Given the description of an element on the screen output the (x, y) to click on. 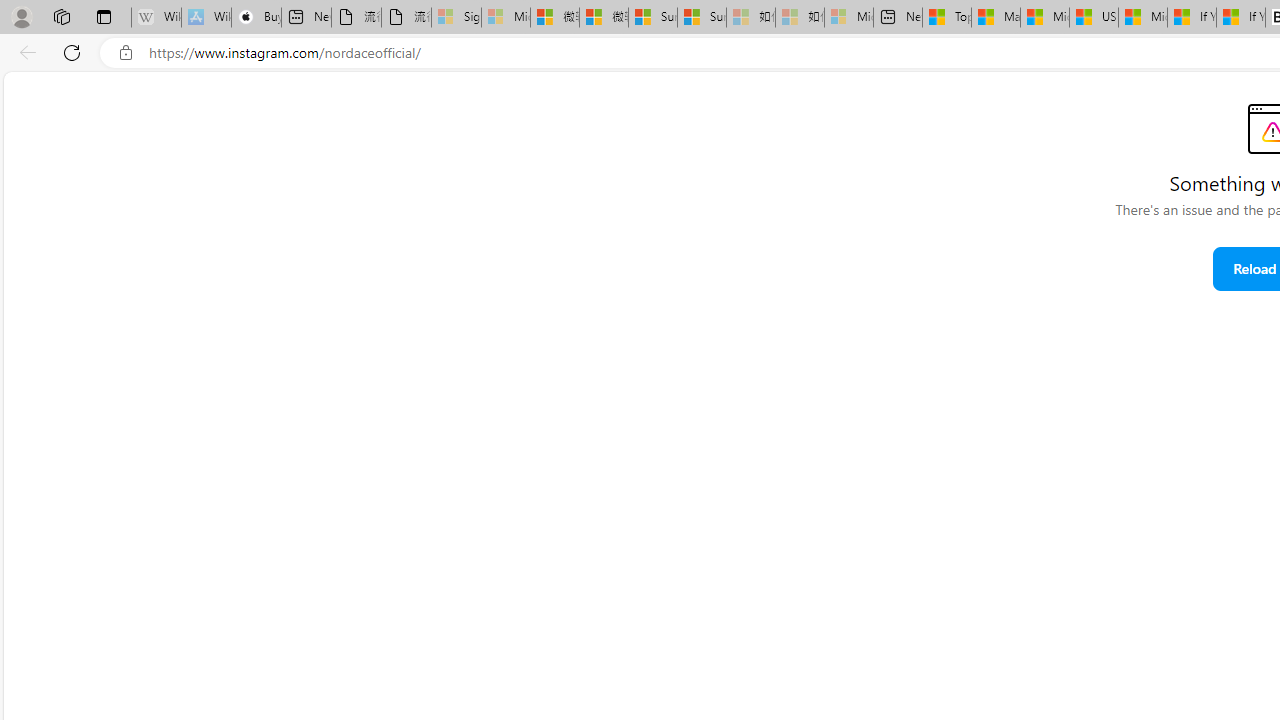
Top Stories - MSN (946, 17)
Marine life - MSN (995, 17)
Sign in to your Microsoft account - Sleeping (456, 17)
US Heat Deaths Soared To Record High Last Year (1093, 17)
Buy iPad - Apple (256, 17)
Wikipedia - Sleeping (155, 17)
